Given the description of an element on the screen output the (x, y) to click on. 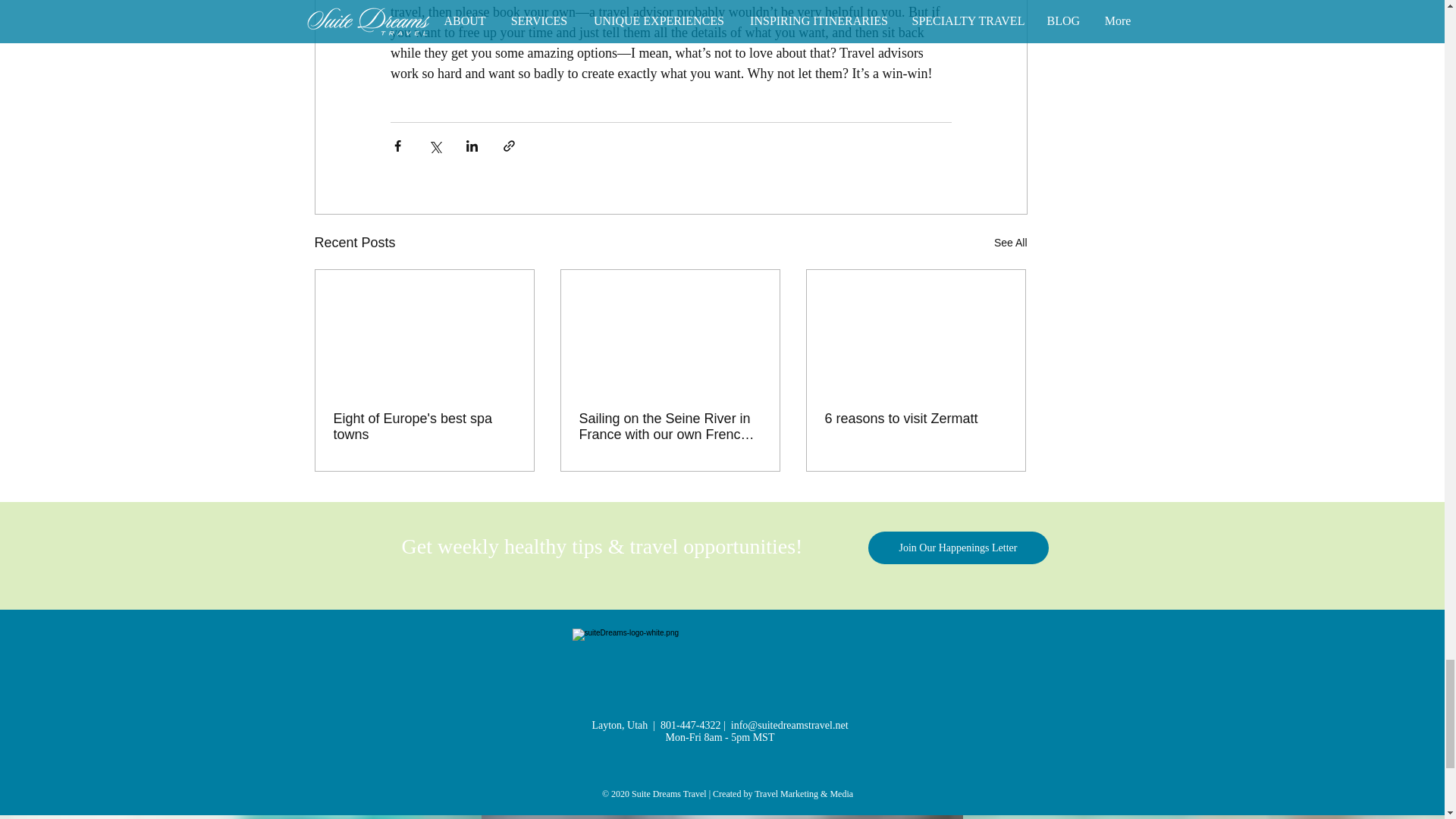
Eight of Europe's best spa towns (424, 427)
Join Our Happenings Letter (957, 547)
See All (1010, 242)
6 reasons to visit Zermatt (916, 418)
